Given the description of an element on the screen output the (x, y) to click on. 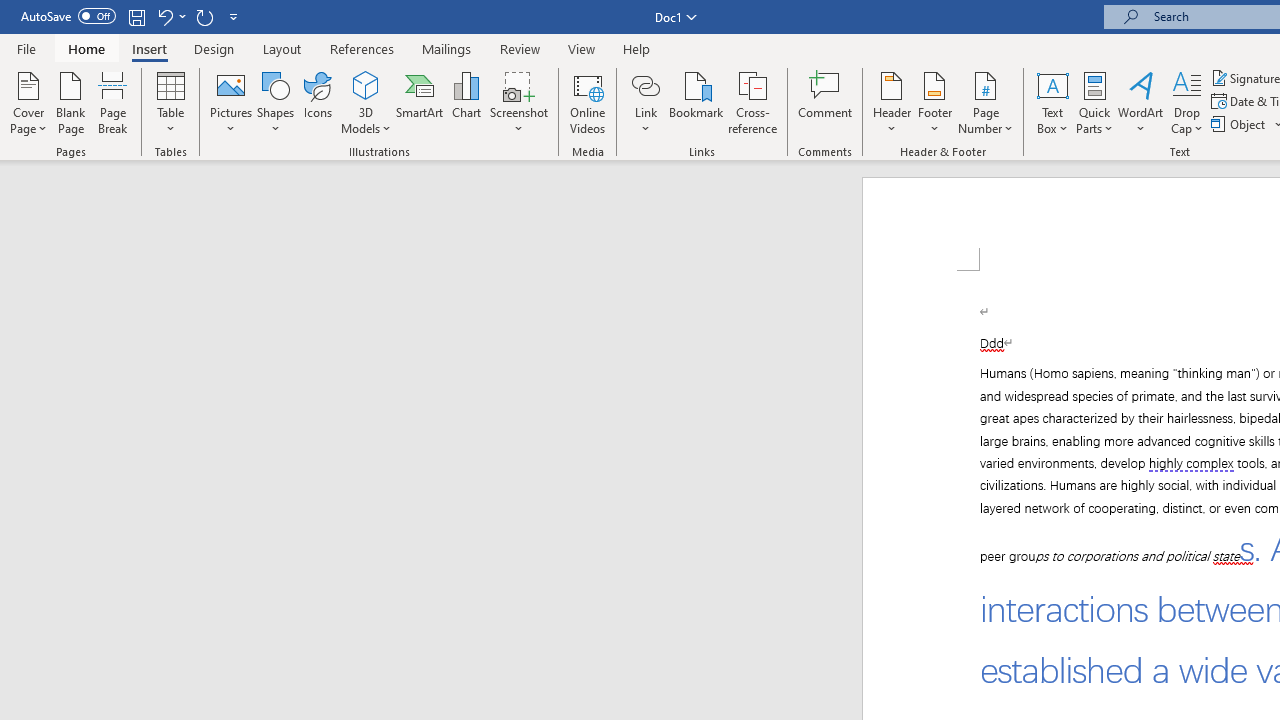
Link (645, 84)
Quick Parts (1094, 102)
Icons (317, 102)
Repeat Doc Close (204, 15)
Object... (1240, 124)
Text Box (1052, 102)
Page Number (986, 102)
SmartArt... (419, 102)
Online Videos... (588, 102)
Cross-reference... (752, 102)
